Given the description of an element on the screen output the (x, y) to click on. 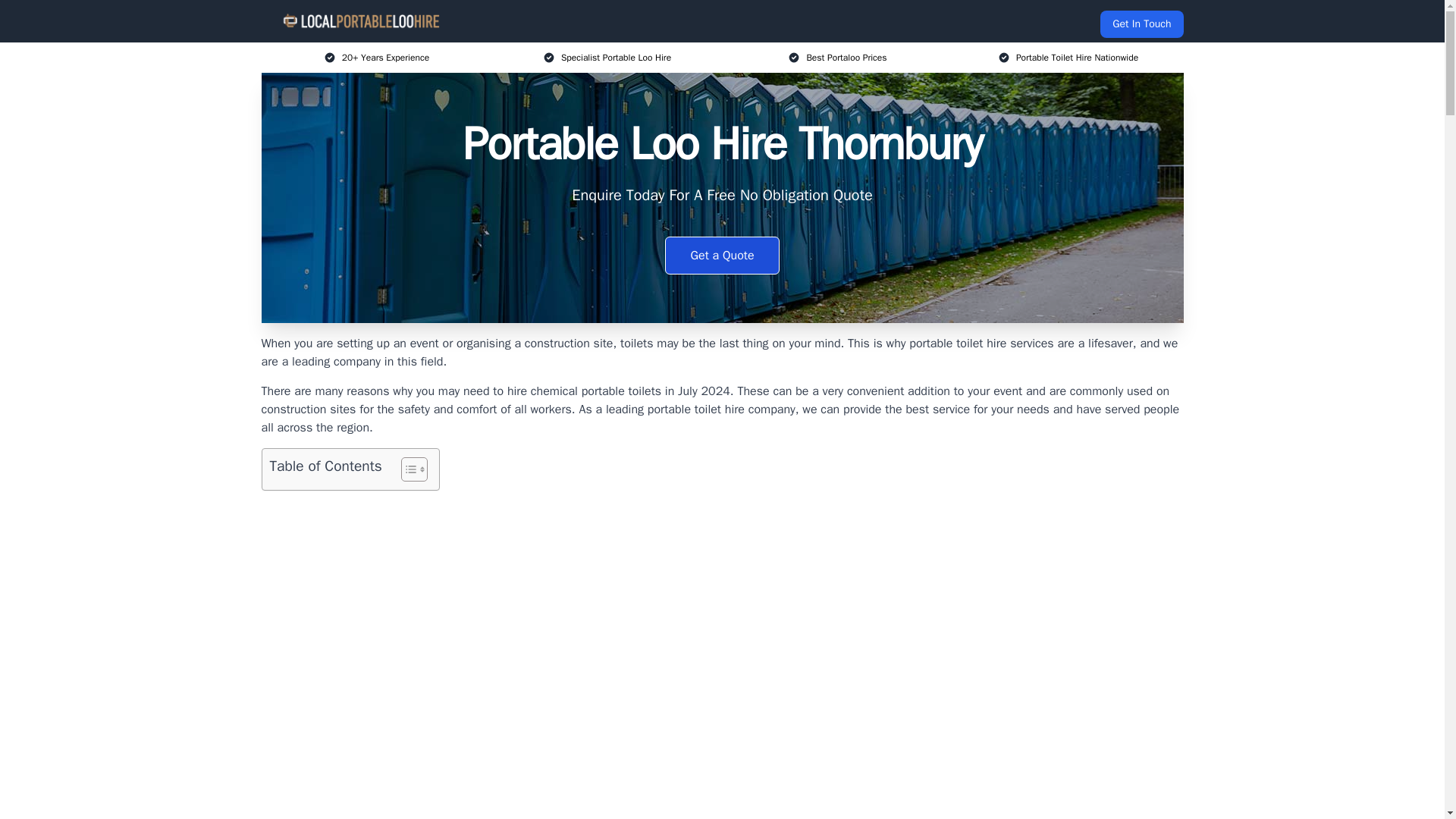
Get In Touch (1141, 23)
Get a Quote (721, 255)
